Given the description of an element on the screen output the (x, y) to click on. 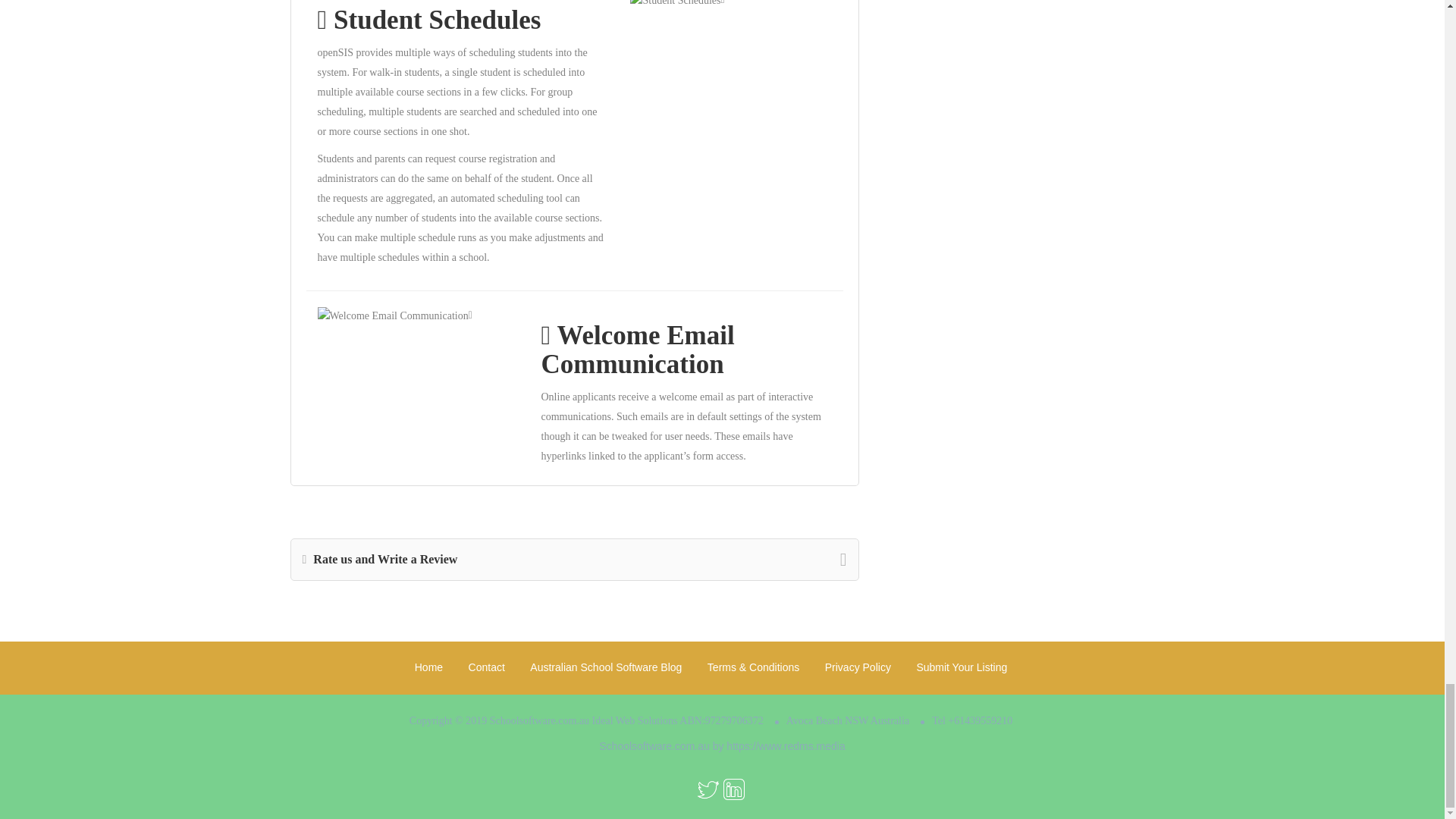
openSIS 51 Schoolsoftware Australia (392, 316)
openSIS 50 Schoolsoftware Australia (675, 4)
